Given the description of an element on the screen output the (x, y) to click on. 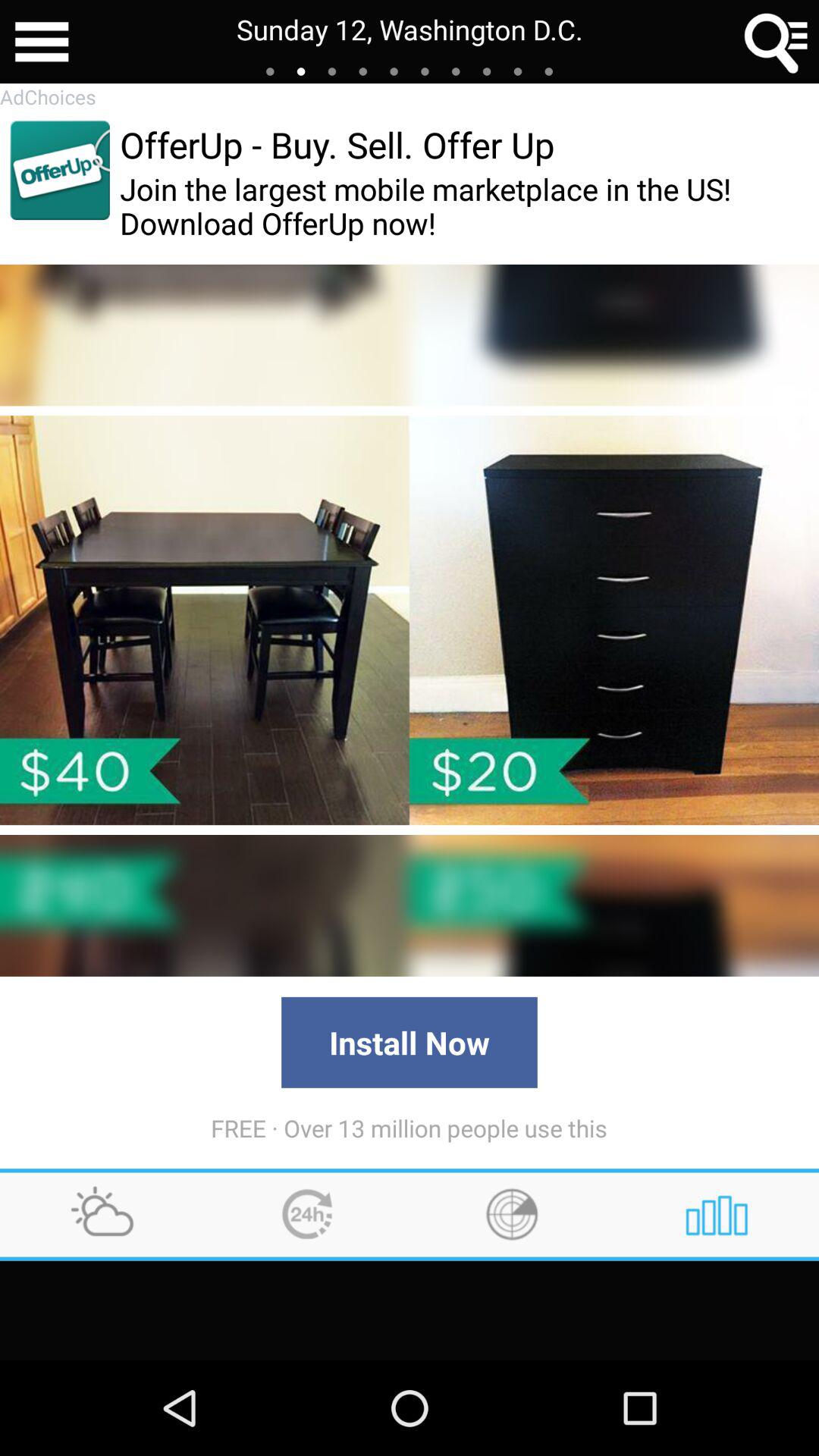
expand general options (41, 41)
